Given the description of an element on the screen output the (x, y) to click on. 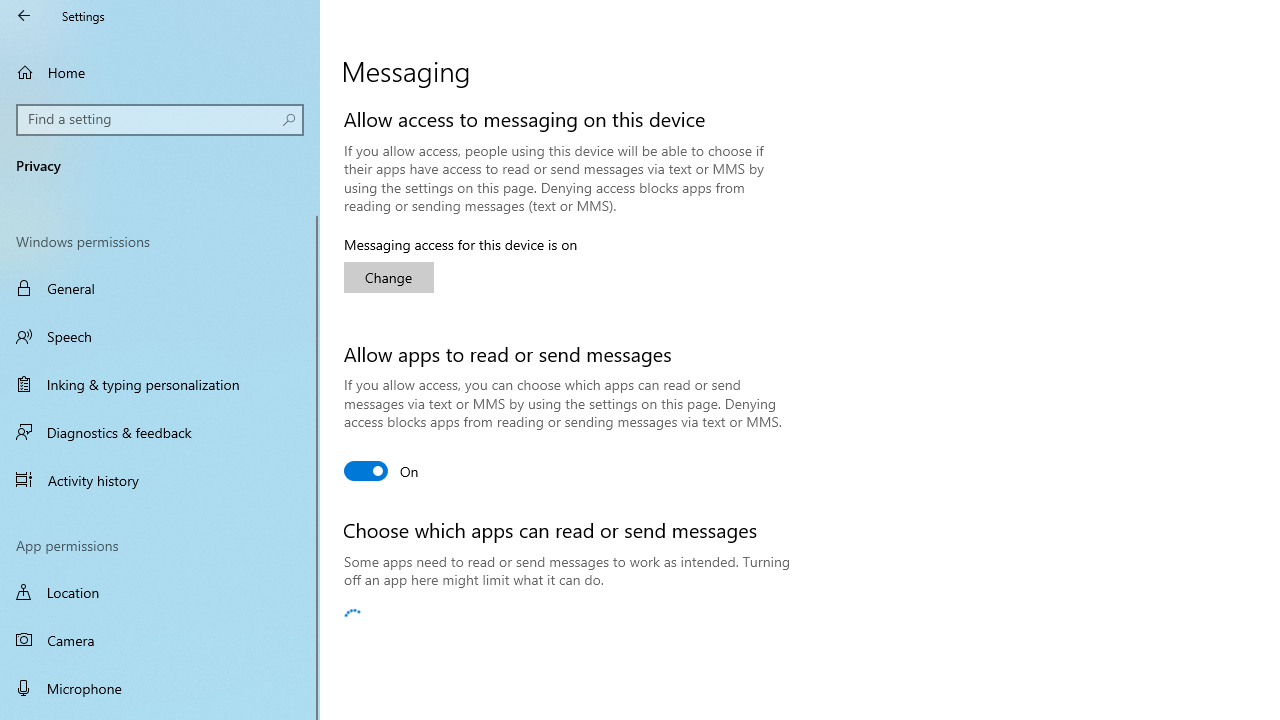
Activity history (160, 479)
Camera (160, 639)
Speech (160, 335)
Diagnostics & feedback (160, 431)
People (675, 619)
Allow apps to read or send messages (381, 470)
Change (388, 277)
Location (160, 592)
Microphone (160, 687)
General (160, 287)
Inking & typing personalization (160, 384)
